Given the description of an element on the screen output the (x, y) to click on. 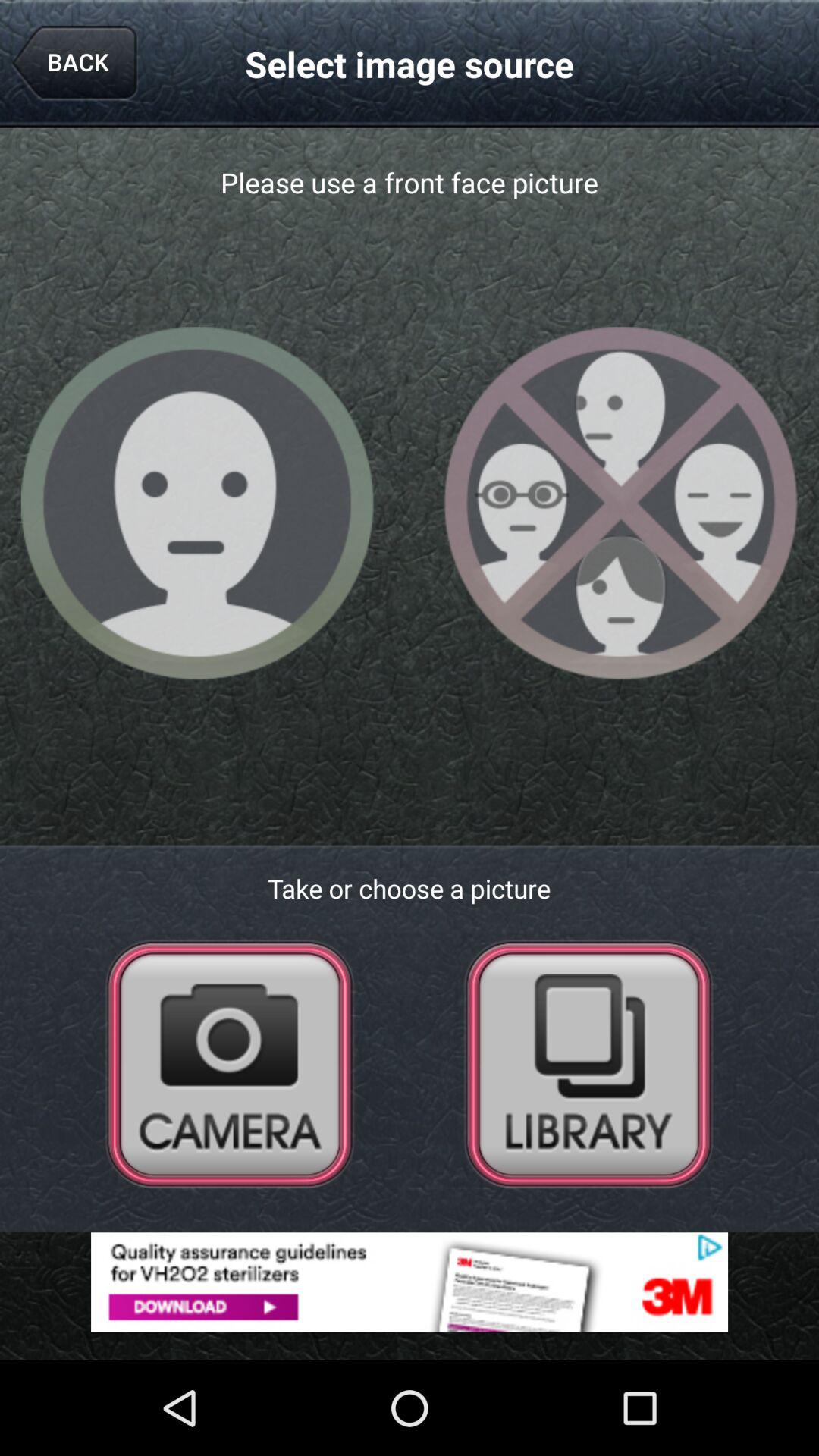
open advertisement (409, 1282)
